Given the description of an element on the screen output the (x, y) to click on. 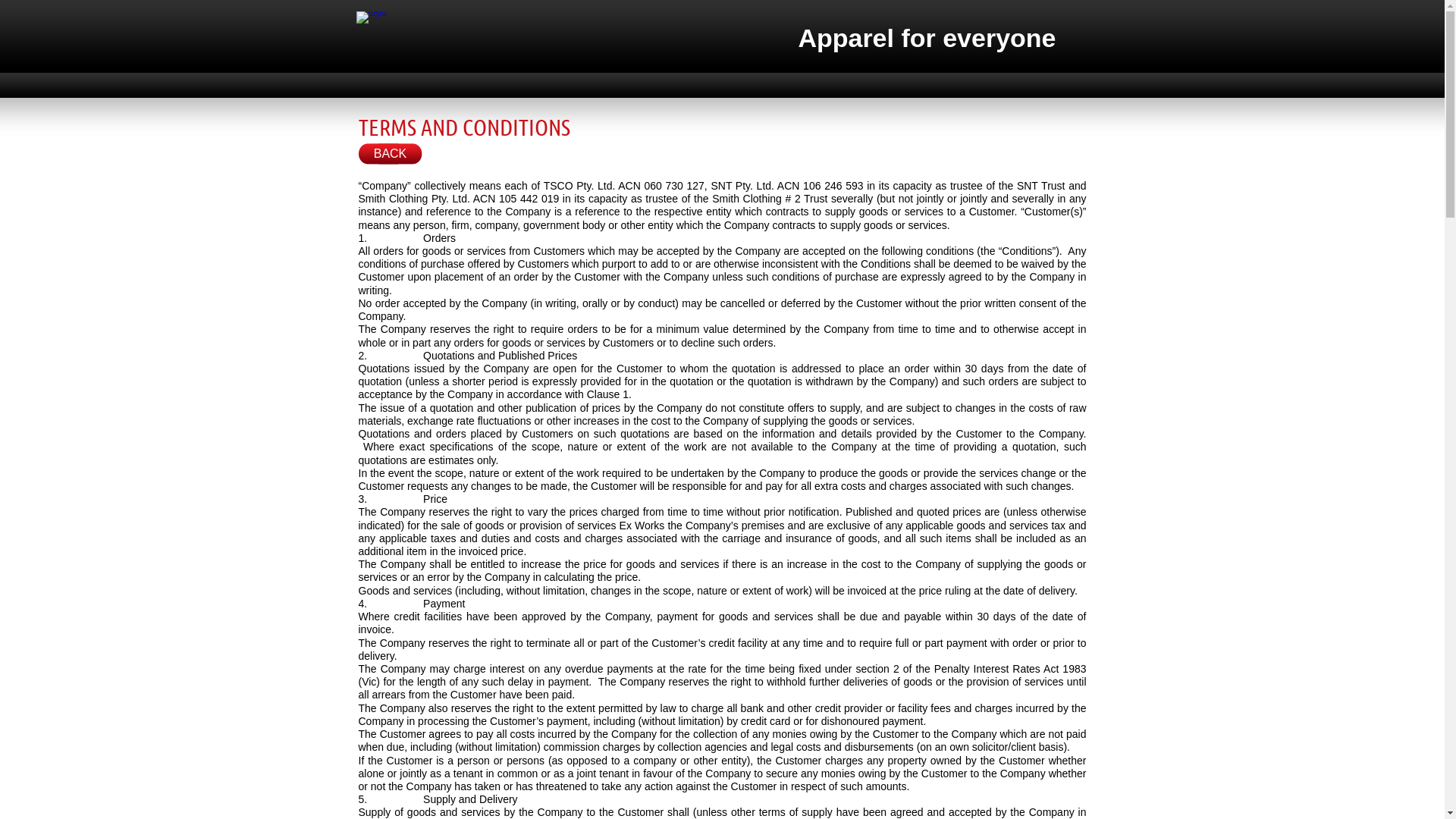
Back Element type: text (389, 153)
